Given the description of an element on the screen output the (x, y) to click on. 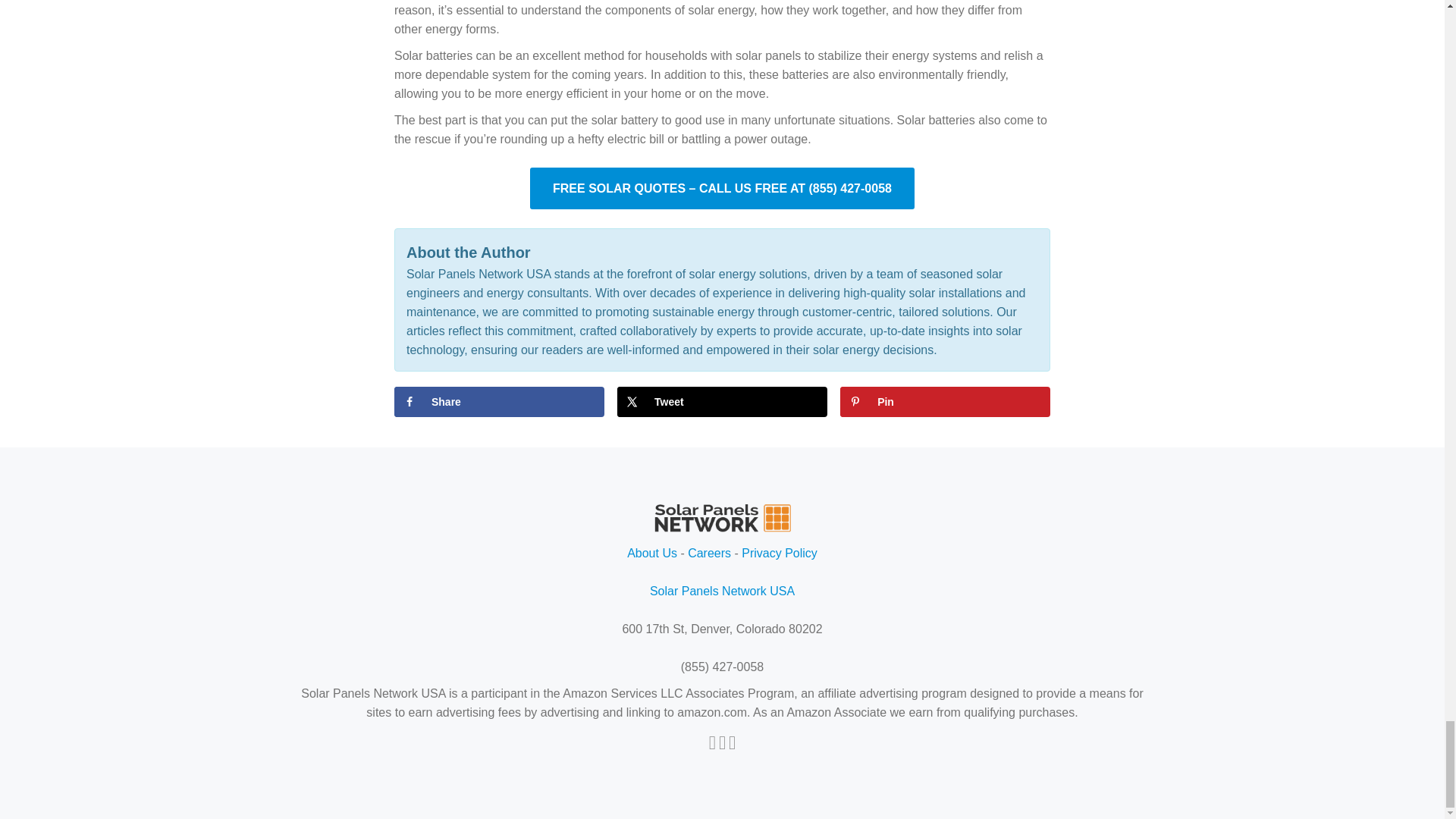
Share on Facebook (499, 401)
Share on X (722, 401)
Save to Pinterest (944, 401)
